Given the description of an element on the screen output the (x, y) to click on. 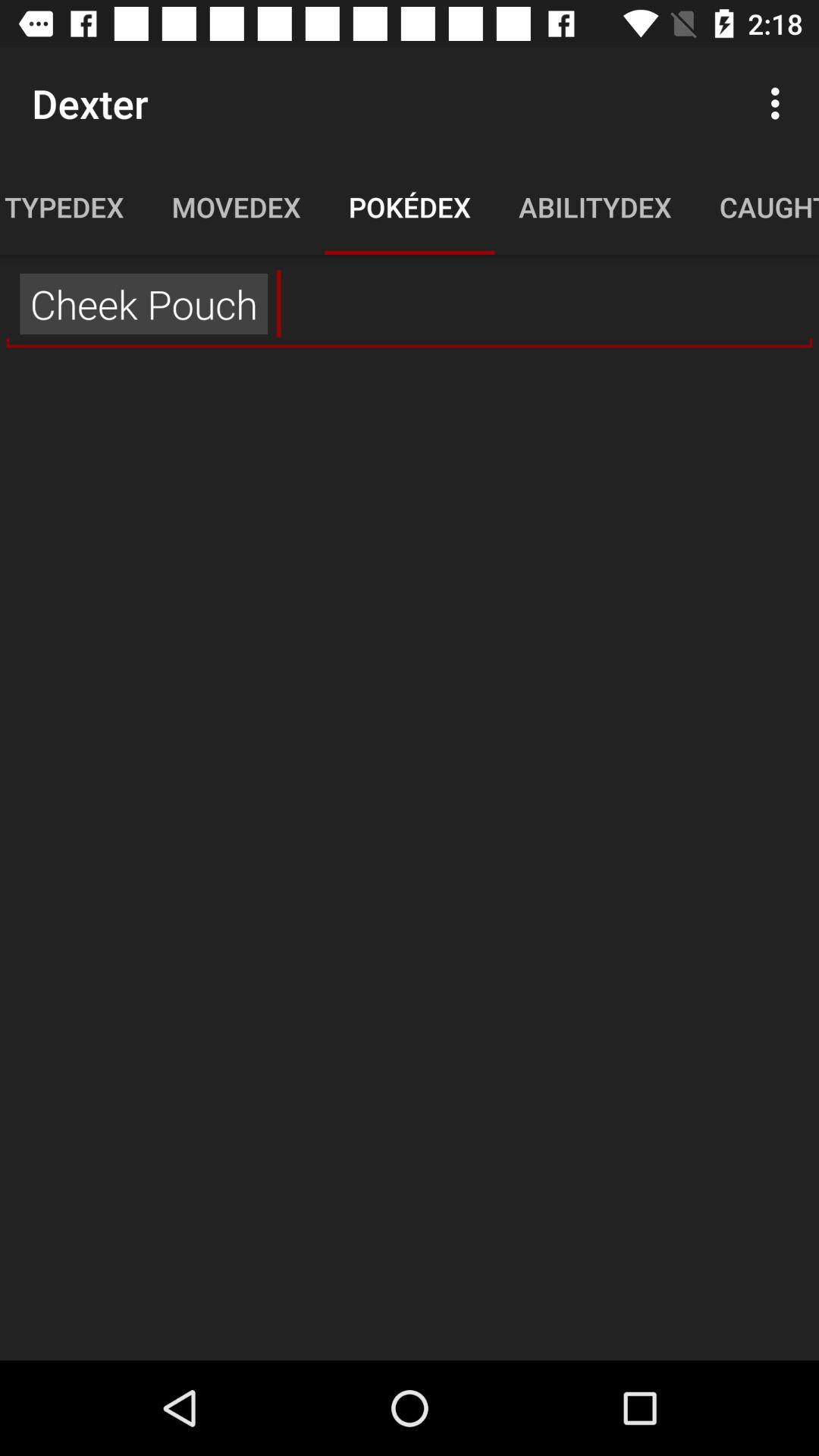
press item to the right of dexter item (779, 103)
